Given the description of an element on the screen output the (x, y) to click on. 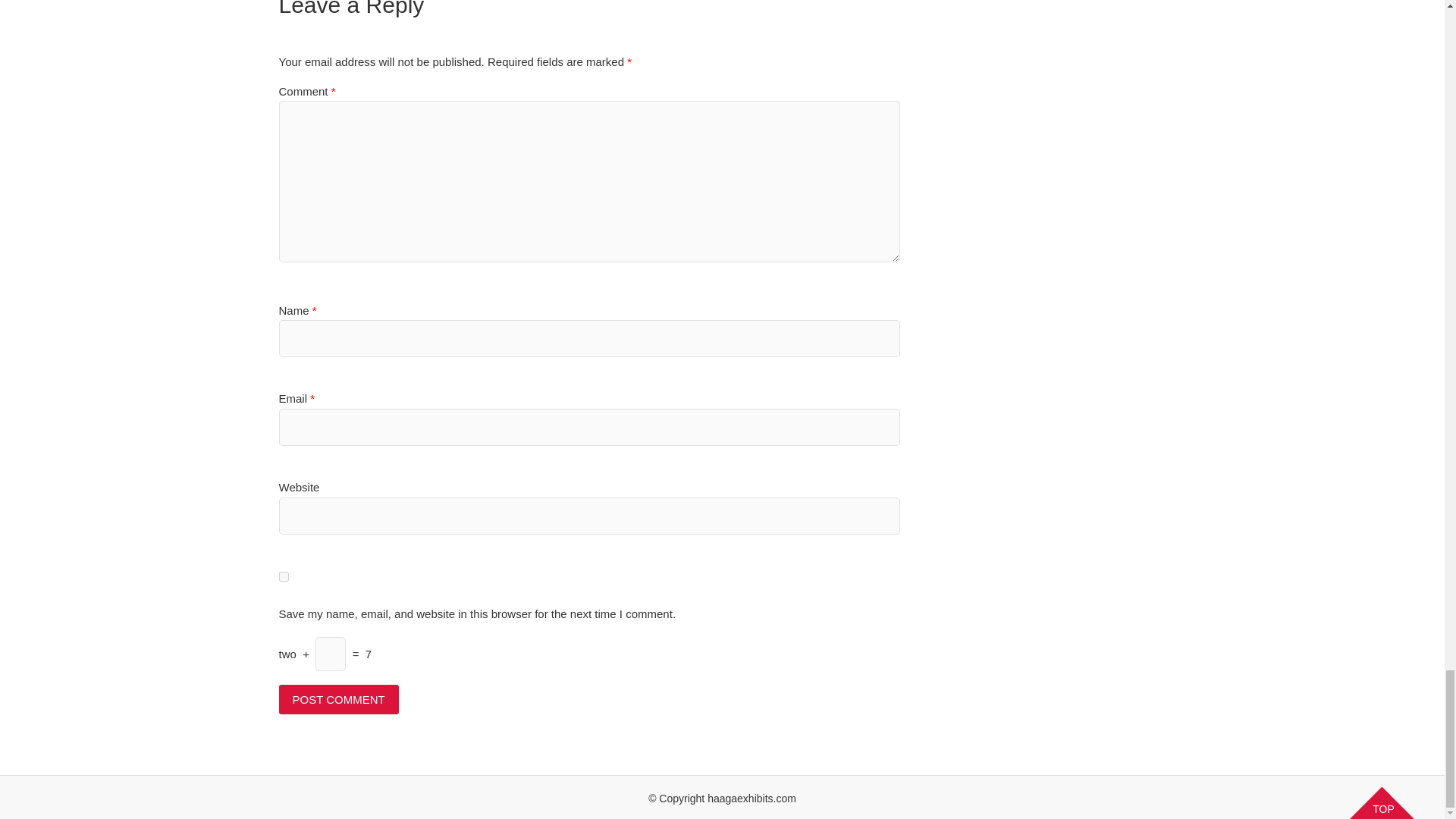
Post Comment (338, 699)
yes (283, 576)
